Given the description of an element on the screen output the (x, y) to click on. 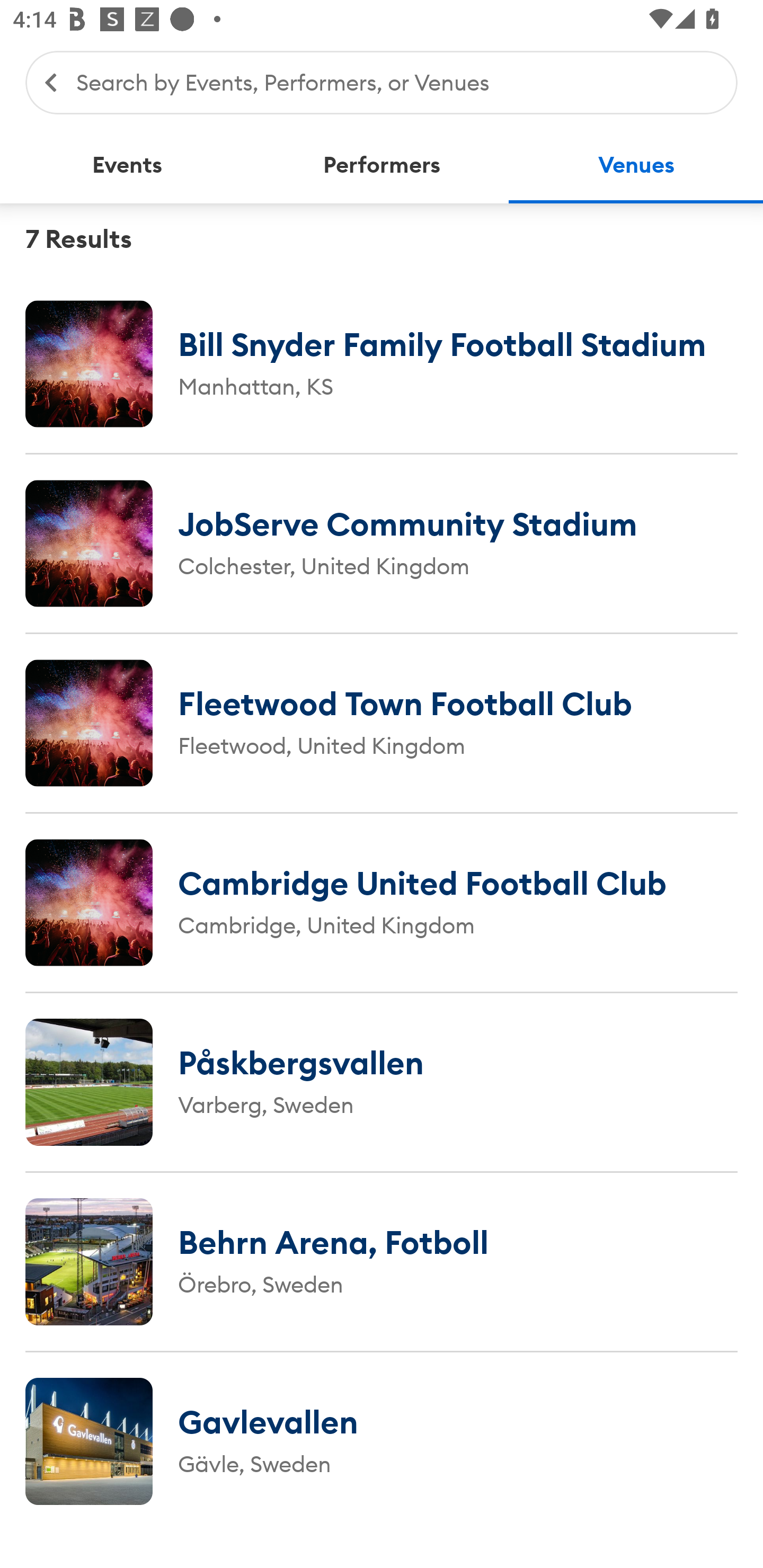
Events (127, 165)
Performers (381, 165)
Bill Snyder Family Football Stadium Manhattan, KS (381, 363)
Påskbergsvallen Varberg, Sweden (381, 1081)
Behrn Arena, Fotboll Örebro, Sweden (381, 1261)
Gavlevallen Gävle, Sweden (381, 1440)
